Given the description of an element on the screen output the (x, y) to click on. 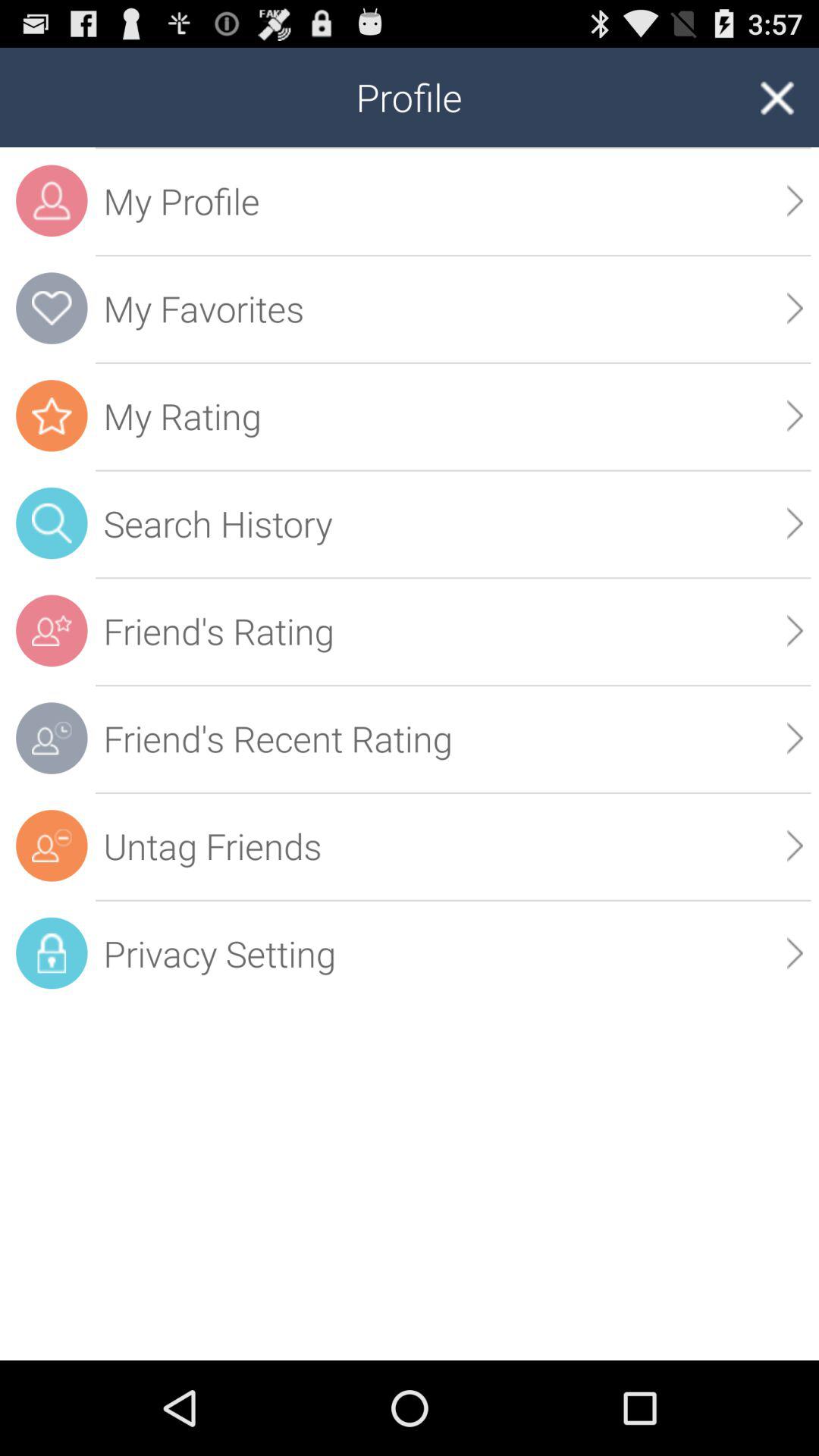
choose icon below friend's rating item (795, 738)
